Given the description of an element on the screen output the (x, y) to click on. 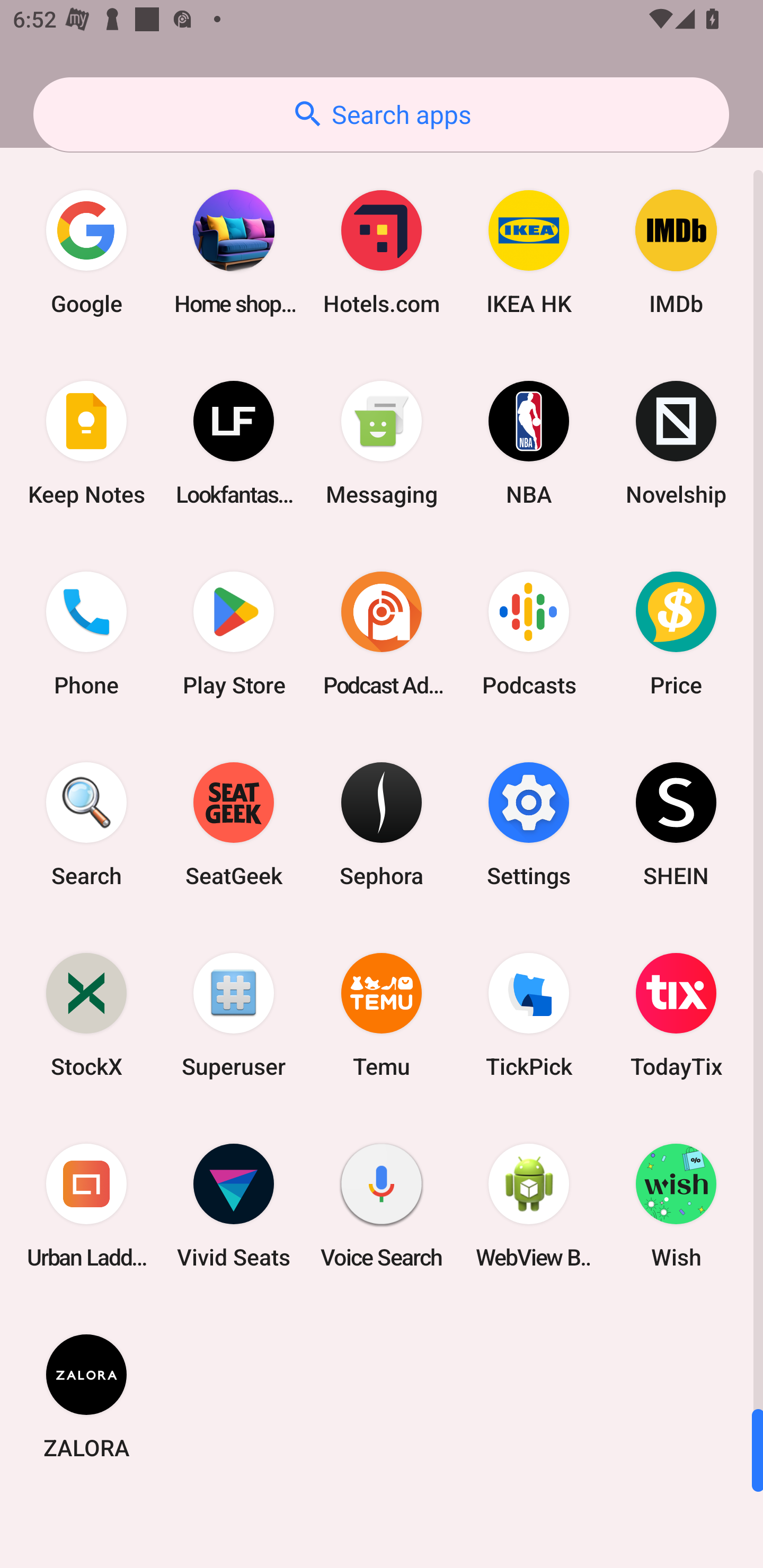
  Search apps (381, 114)
Google (86, 252)
Home shopping (233, 252)
Hotels.com (381, 252)
IKEA HK (528, 252)
IMDb (676, 252)
Keep Notes (86, 442)
Lookfantastic (233, 442)
Messaging (381, 442)
NBA (528, 442)
Novelship (676, 442)
Phone (86, 633)
Play Store (233, 633)
Podcast Addict (381, 633)
Podcasts (528, 633)
Price (676, 633)
Search (86, 823)
SeatGeek (233, 823)
Sephora (381, 823)
Settings (528, 823)
SHEIN (676, 823)
StockX (86, 1014)
Superuser (233, 1014)
Temu (381, 1014)
TickPick (528, 1014)
TodayTix (676, 1014)
Urban Ladder (86, 1205)
Vivid Seats (233, 1205)
Voice Search (381, 1205)
WebView Browser Tester (528, 1205)
Wish (676, 1205)
ZALORA (86, 1396)
